Given the description of an element on the screen output the (x, y) to click on. 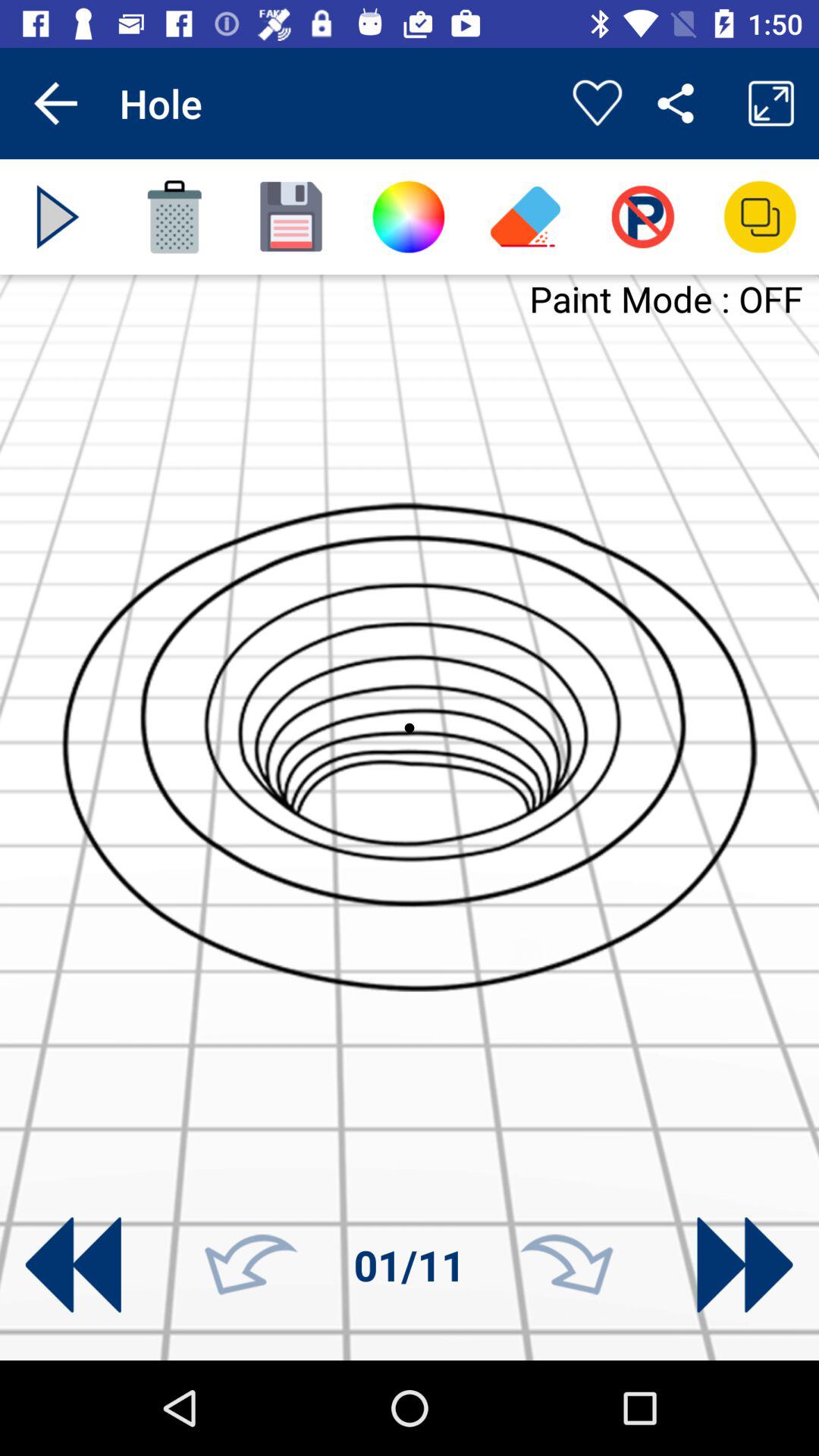
eraser (525, 216)
